Given the description of an element on the screen output the (x, y) to click on. 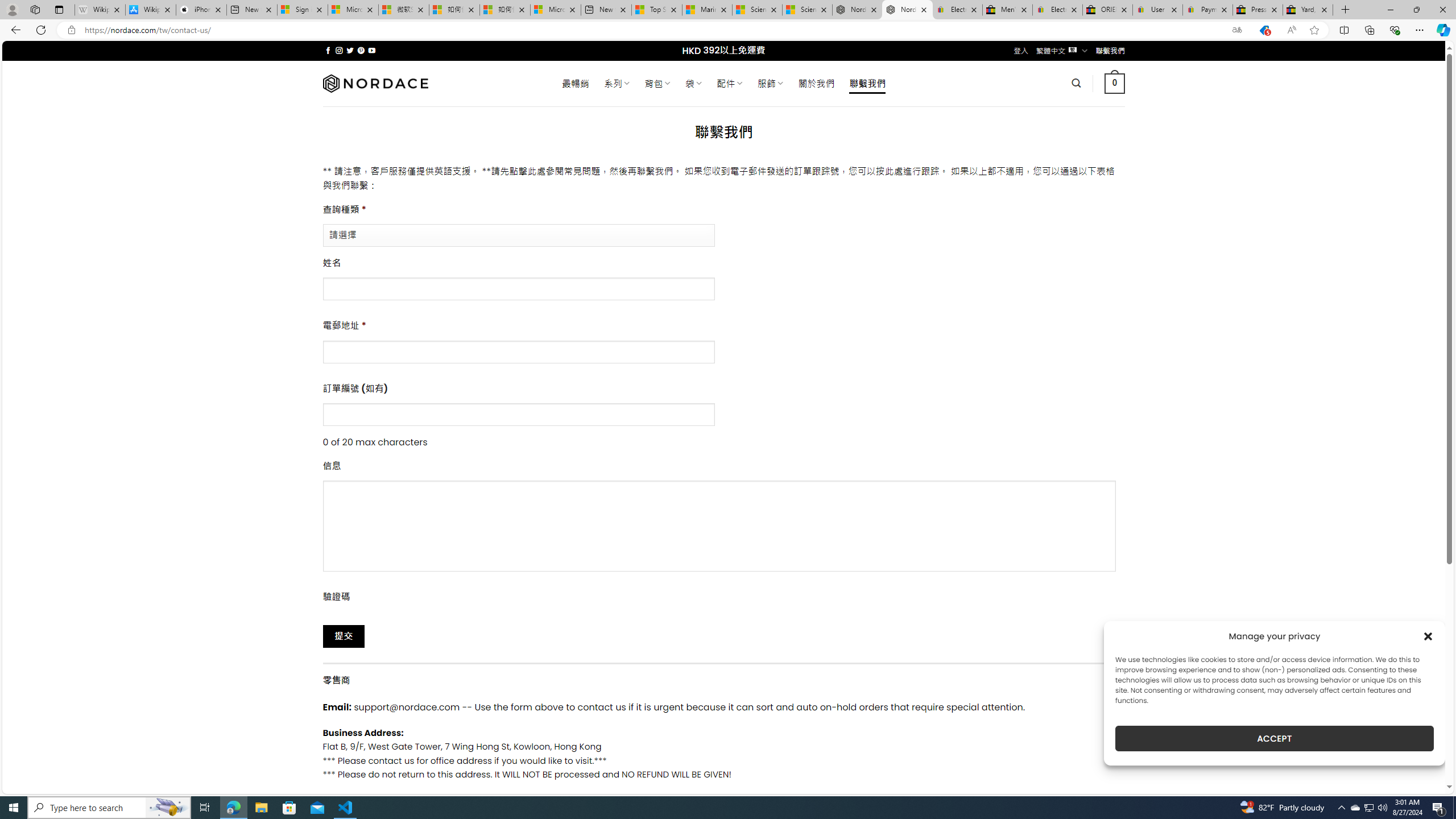
  0   (1115, 83)
